Given the description of an element on the screen output the (x, y) to click on. 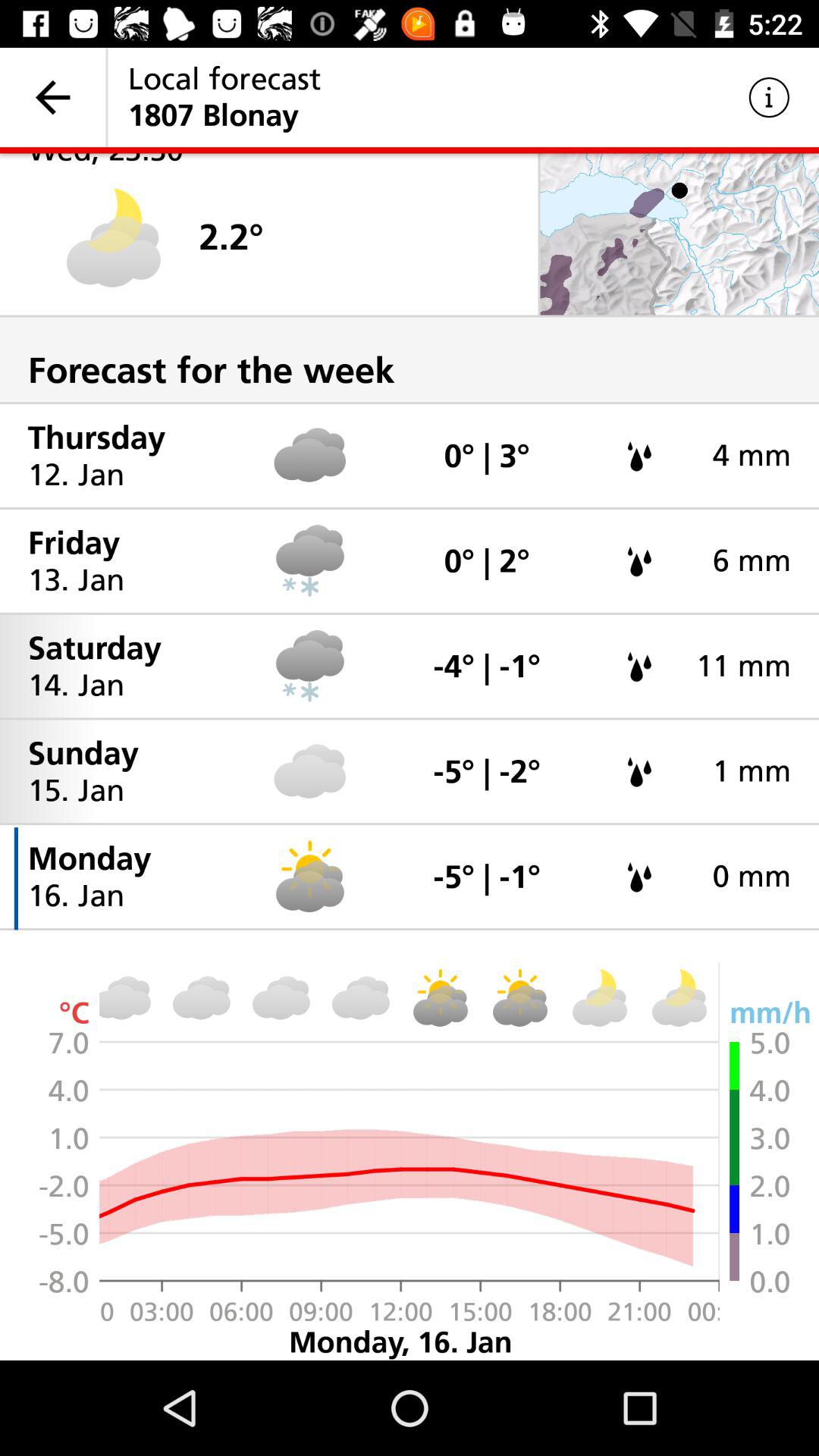
turn off icon next to local forecast item (769, 97)
